Given the description of an element on the screen output the (x, y) to click on. 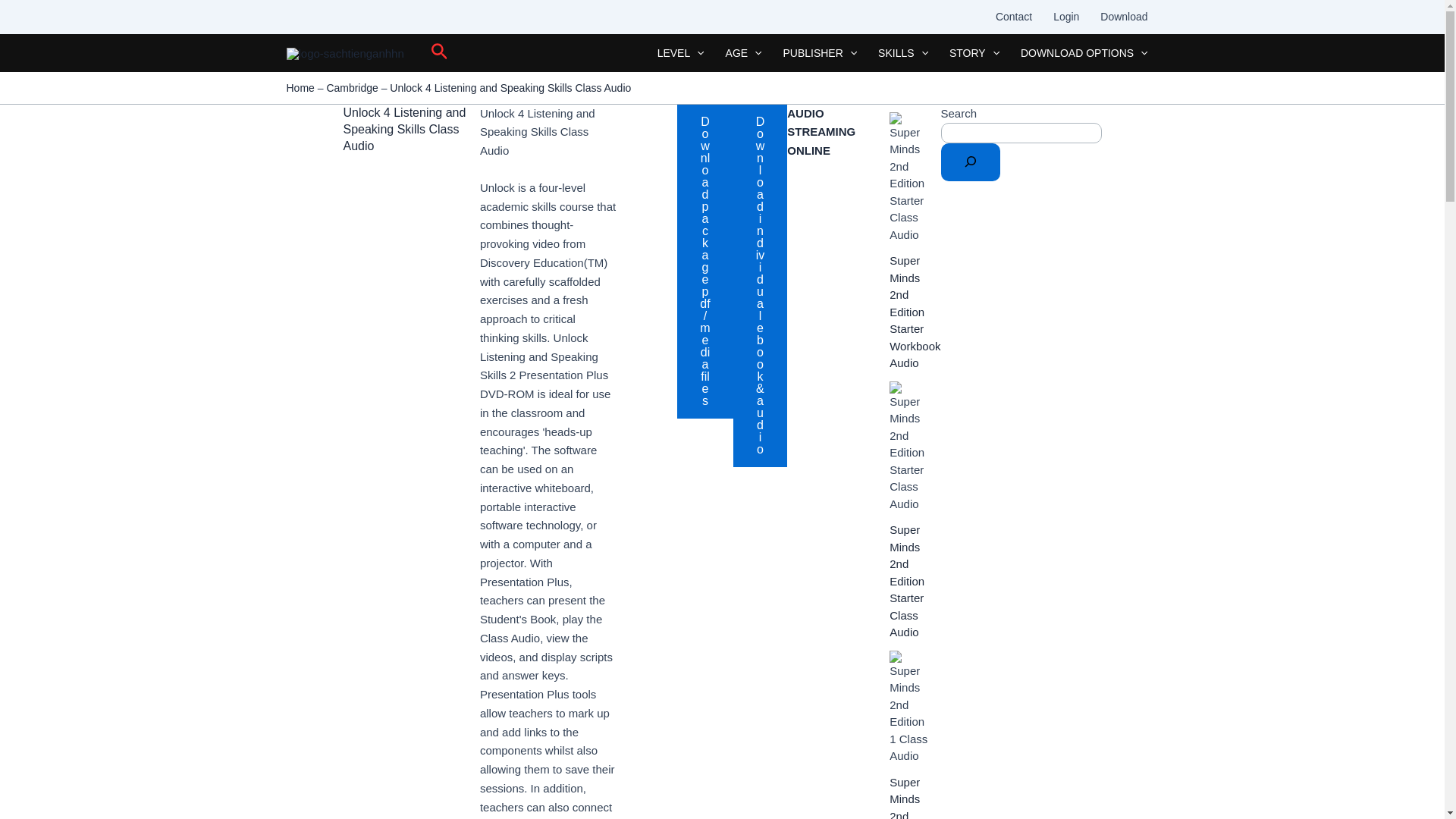
Contact (1013, 17)
SKILLS (903, 53)
PUBLISHER (819, 53)
LEVEL (680, 53)
AGE (743, 53)
Login (1065, 17)
Download (1123, 17)
